Given the description of an element on the screen output the (x, y) to click on. 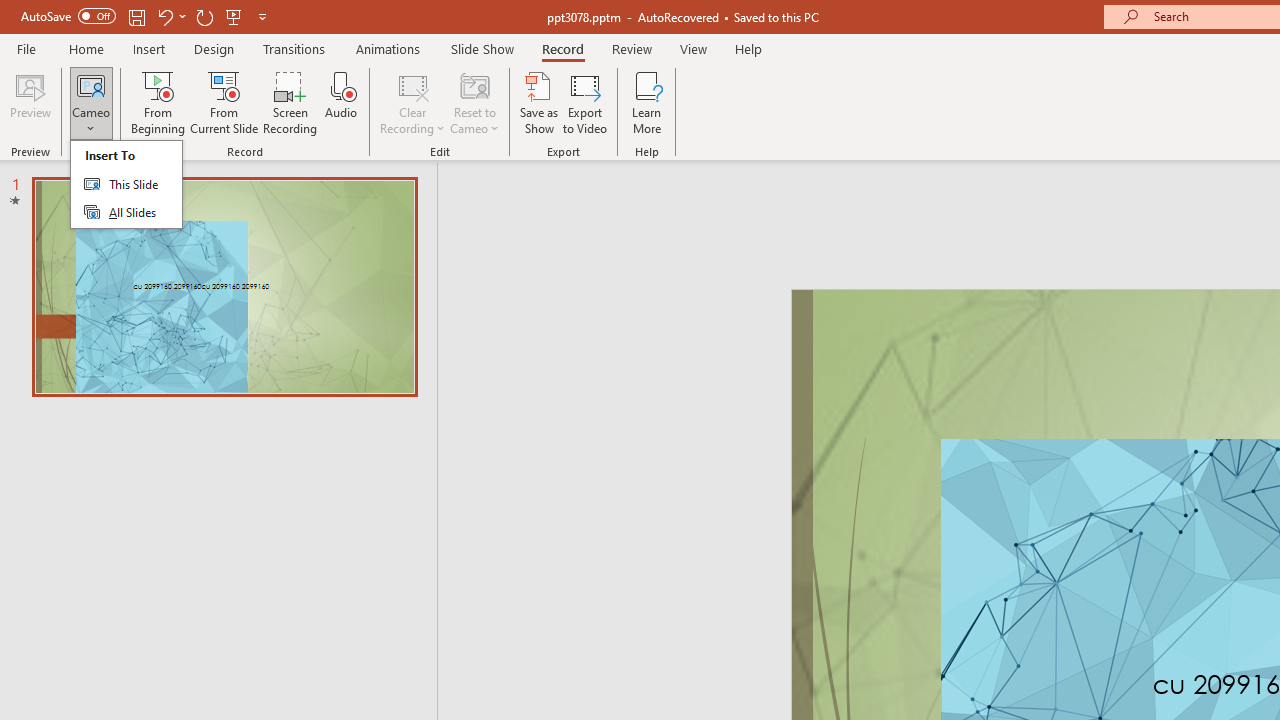
Customize Quick Access Toolbar (262, 15)
Undo (164, 15)
Slide Show (481, 48)
Reset to Cameo (474, 102)
File Tab (26, 48)
Home (86, 48)
Transitions (294, 48)
From Beginning... (158, 102)
Redo (204, 15)
Learn More (646, 102)
Screen Recording (290, 102)
Insert (149, 48)
Cameo (91, 84)
More Options (91, 121)
